Given the description of an element on the screen output the (x, y) to click on. 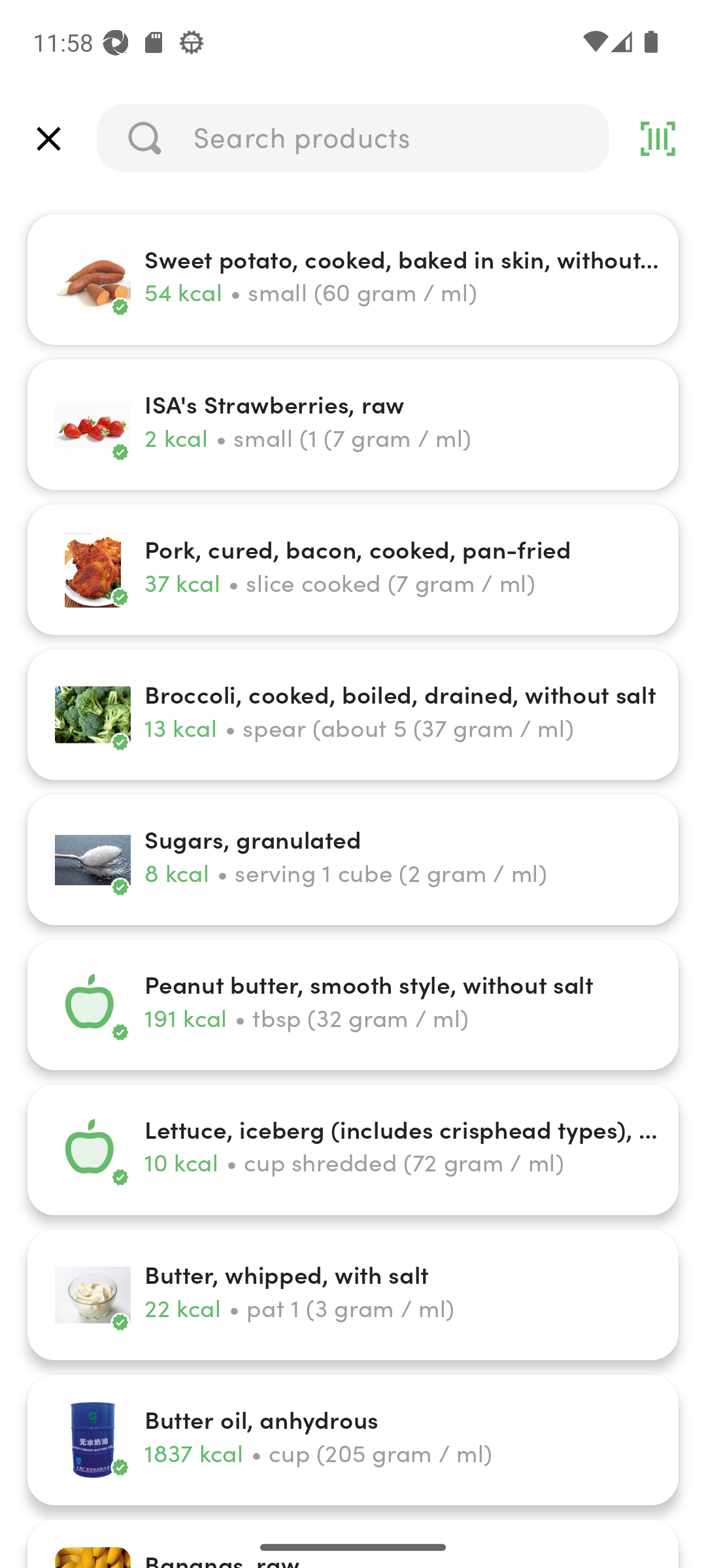
top_left_action (48, 138)
top_right_action (658, 138)
